Given the description of an element on the screen output the (x, y) to click on. 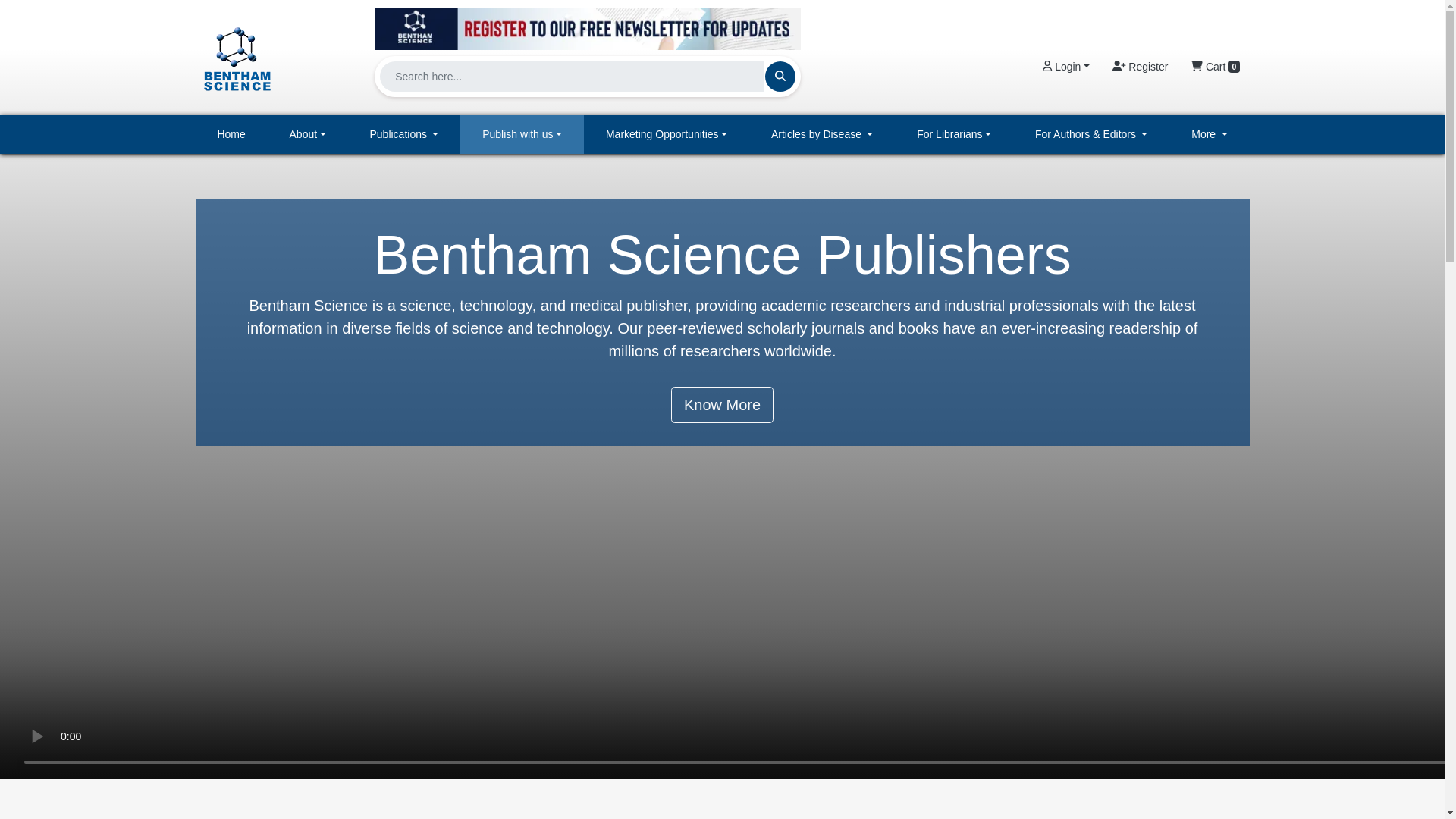
Cart 0 (1214, 67)
newsletter banner (587, 28)
Register (1139, 67)
Publications (404, 134)
Search Button (779, 76)
About (307, 134)
Login (1065, 67)
newsletter banner (587, 24)
Home (231, 134)
